Given the description of an element on the screen output the (x, y) to click on. 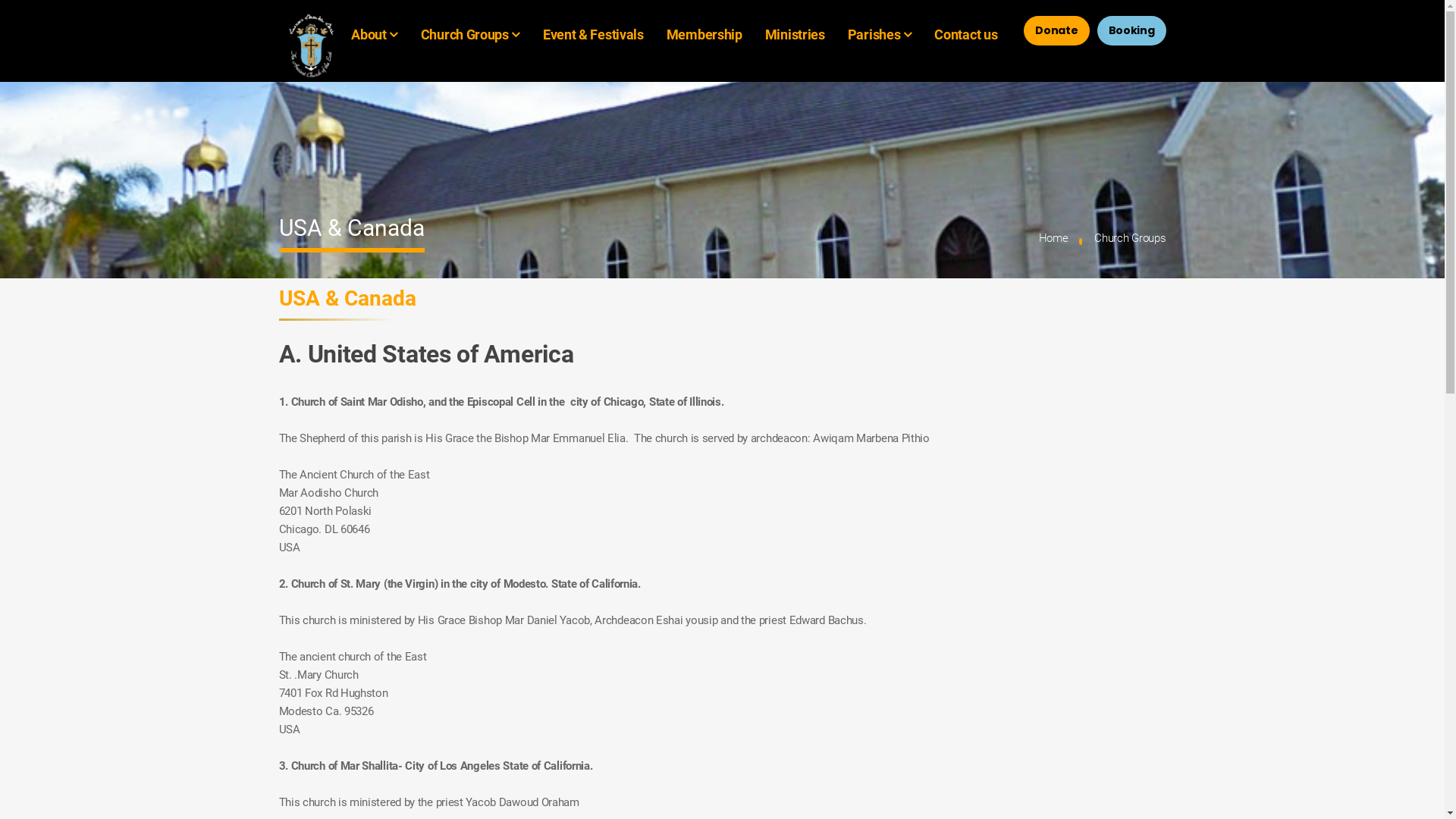
Parishes Element type: text (873, 34)
Home Element type: text (1053, 237)
Logo Element type: hover (313, 45)
Contact us Element type: text (965, 34)
Membership Element type: text (704, 34)
Event & Festivals Element type: text (592, 34)
About Element type: text (368, 34)
Ministries Element type: text (795, 34)
Church Groups Element type: text (464, 34)
Donate Element type: text (1055, 30)
Booking Element type: text (1131, 30)
